Given the description of an element on the screen output the (x, y) to click on. 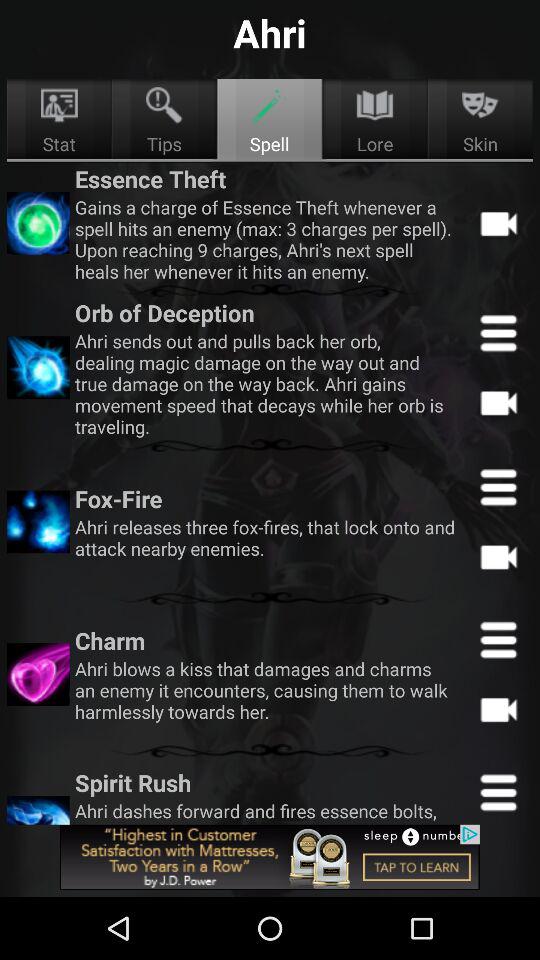
watch video option (498, 556)
